Given the description of an element on the screen output the (x, y) to click on. 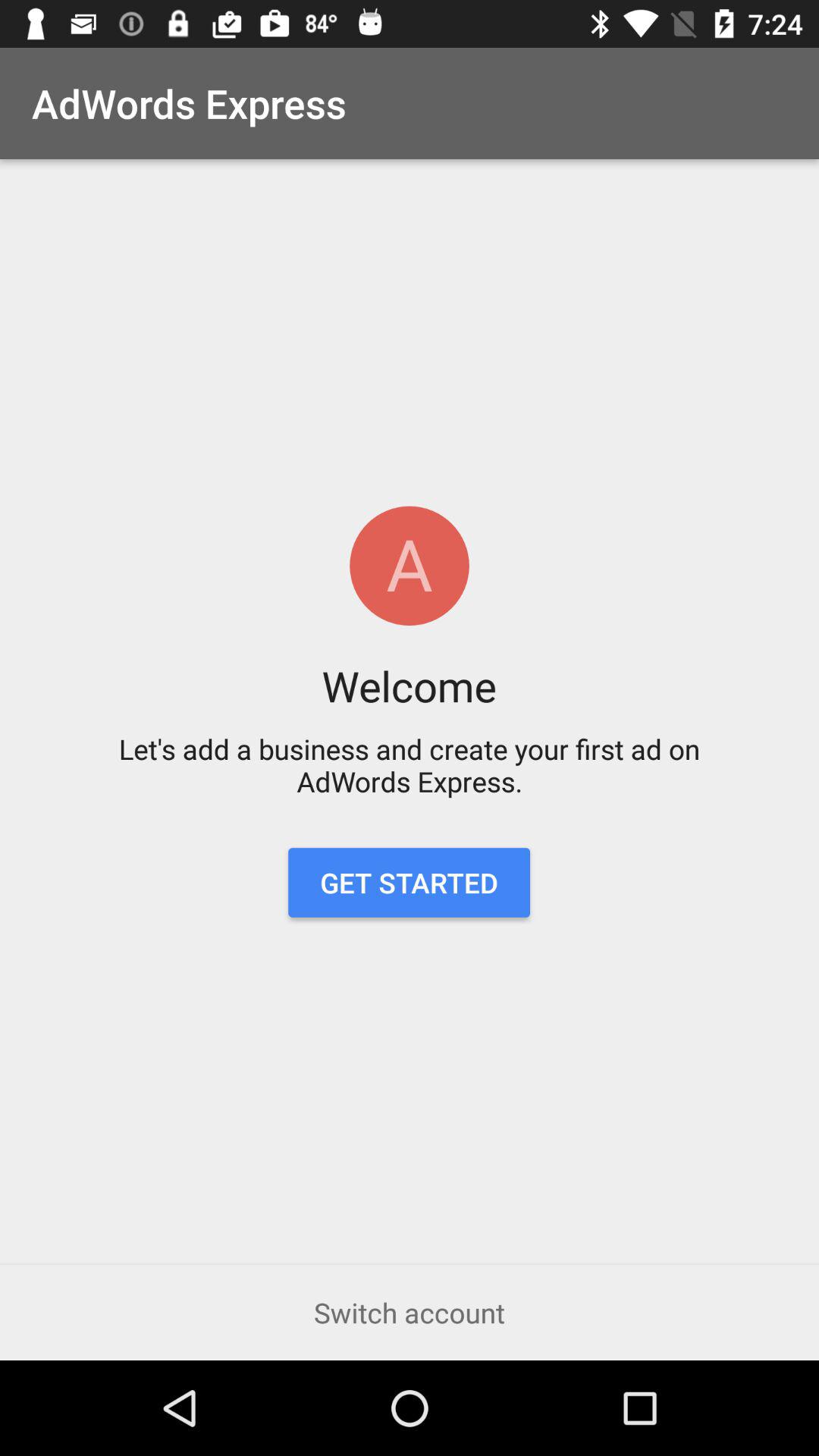
select icon above the switch account (409, 882)
